Given the description of an element on the screen output the (x, y) to click on. 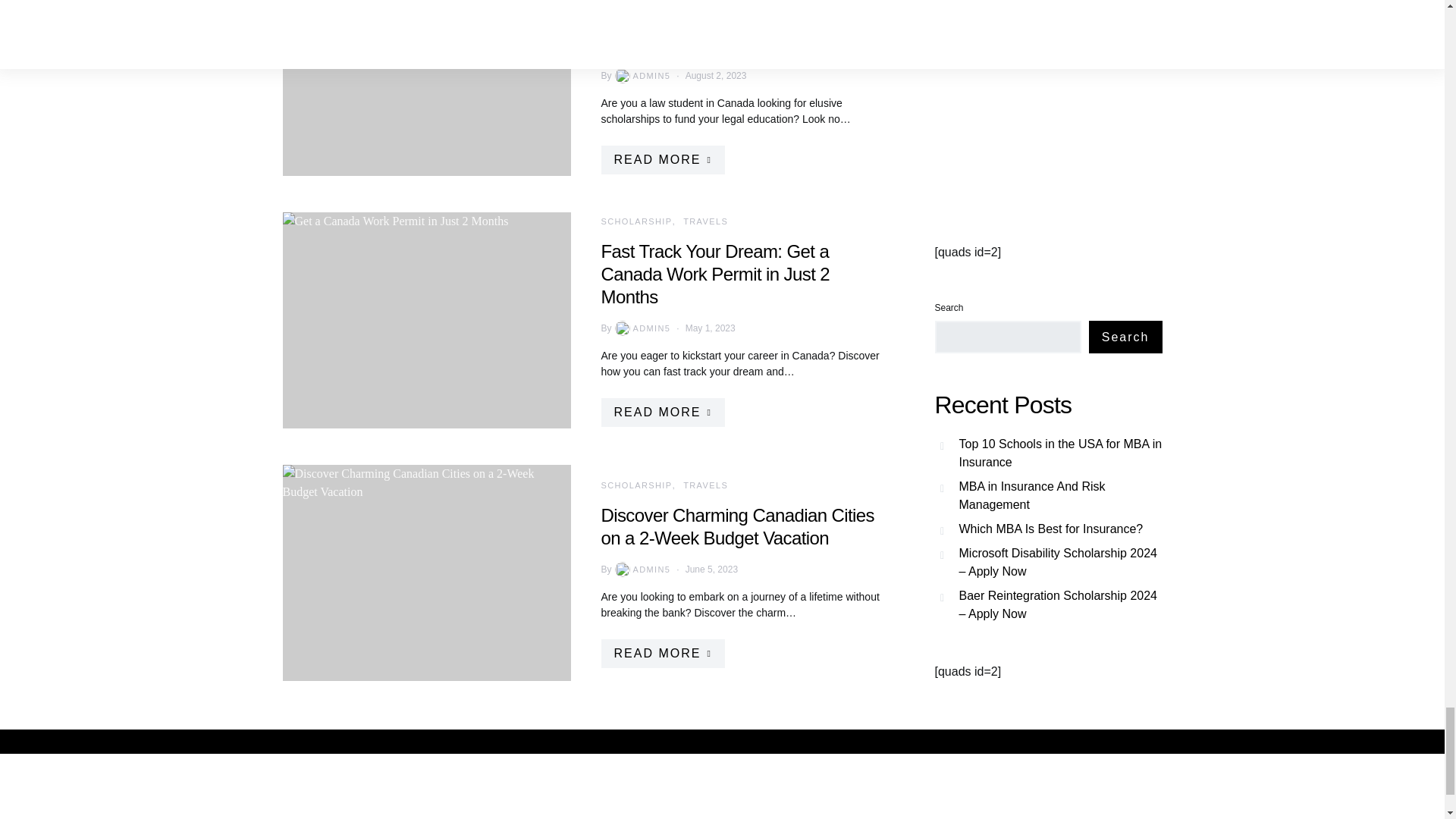
View all posts by Admin5 (641, 569)
View all posts by Admin5 (641, 328)
View all posts by Admin5 (641, 75)
